Given the description of an element on the screen output the (x, y) to click on. 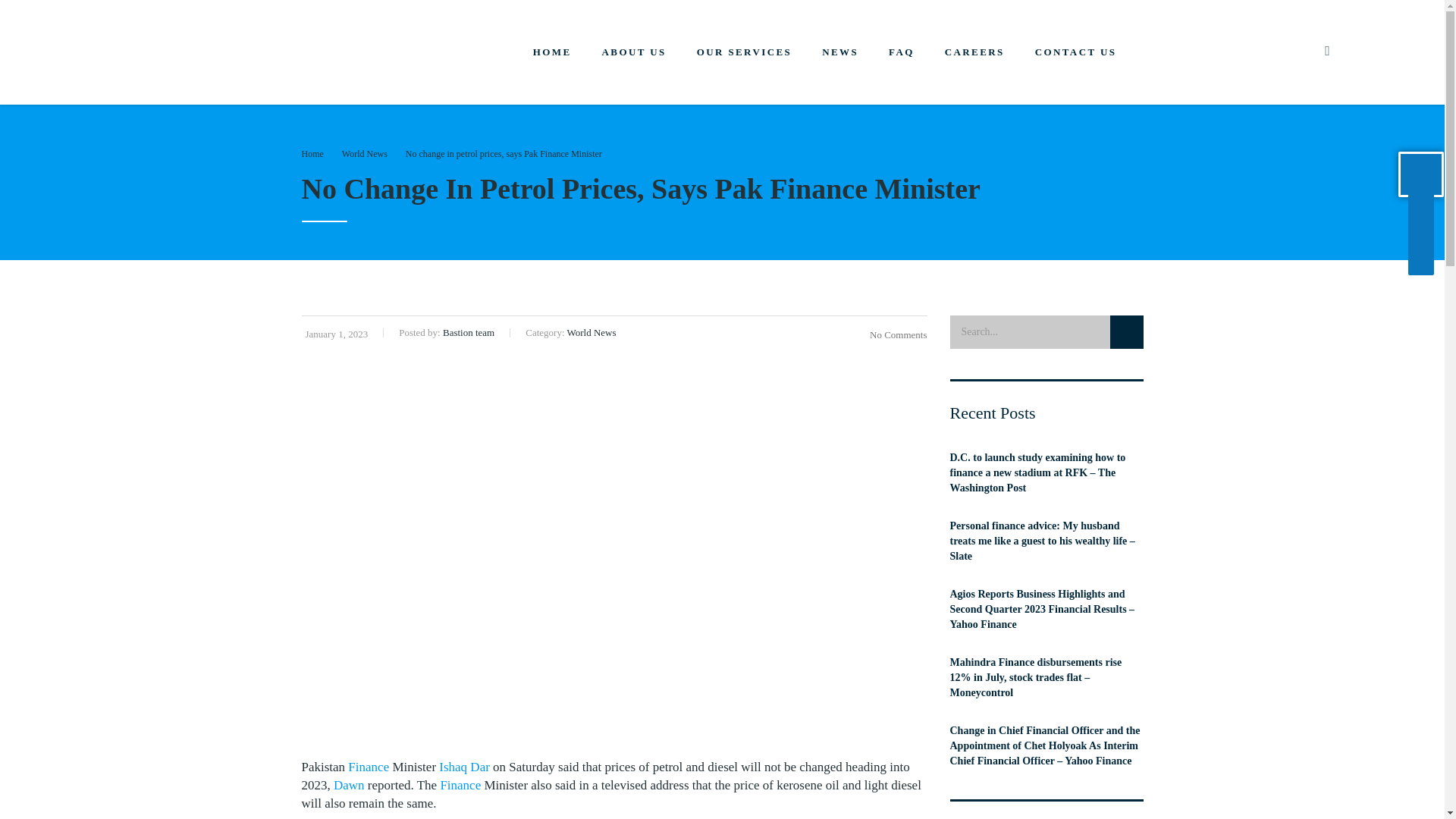
CONTACT US (1076, 51)
No Comments (894, 334)
OUR SERVICES (744, 51)
Finance (459, 785)
World News (364, 153)
Go to the World News category archives. (364, 153)
Home (312, 153)
ABOUT US (633, 51)
Dawn (349, 785)
Go to Bastion Balance Seoul Korea. (312, 153)
